Given the description of an element on the screen output the (x, y) to click on. 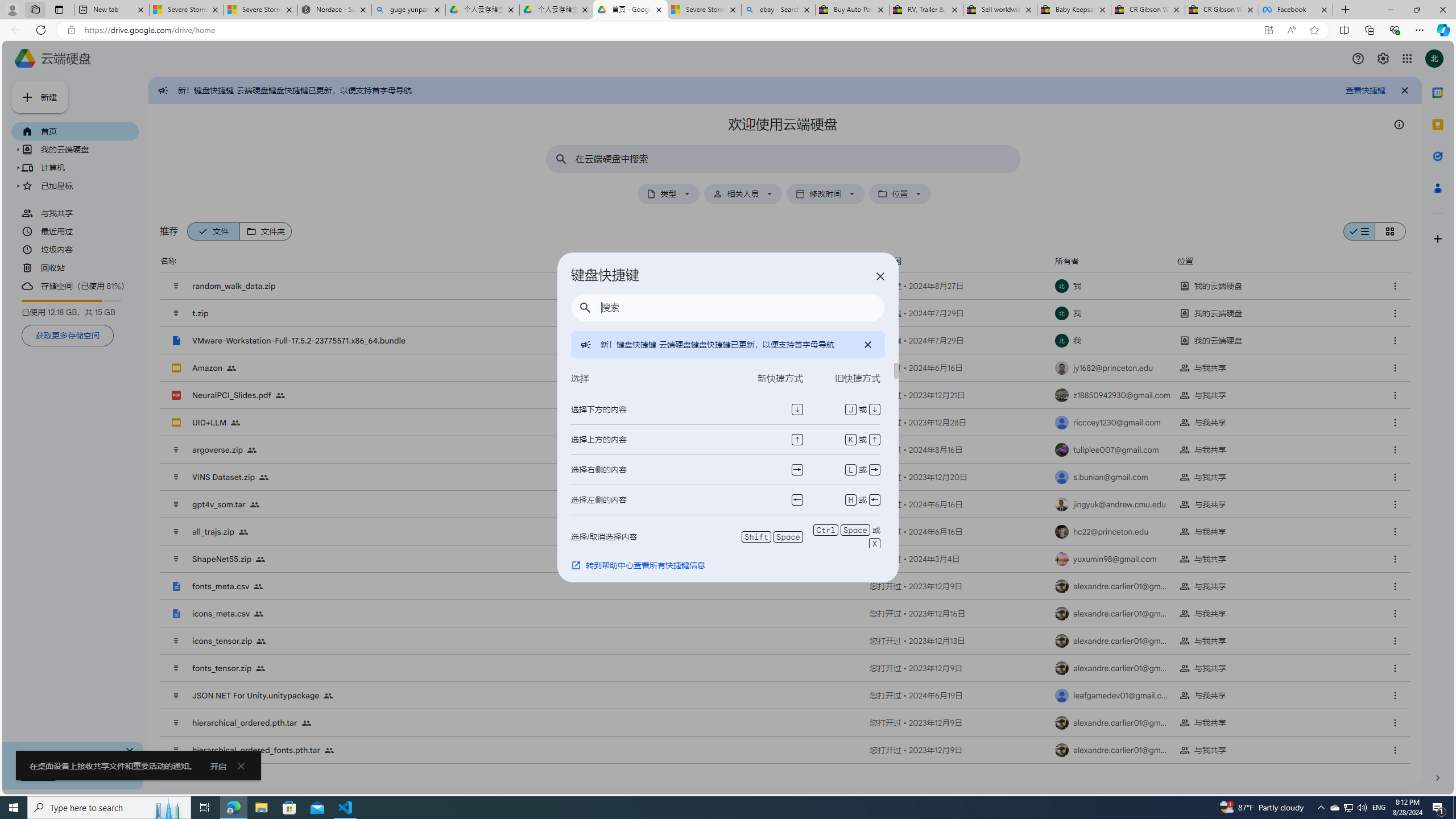
RV, Trailer & Camper Steps & Ladders for sale | eBay (925, 9)
